Given the description of an element on the screen output the (x, y) to click on. 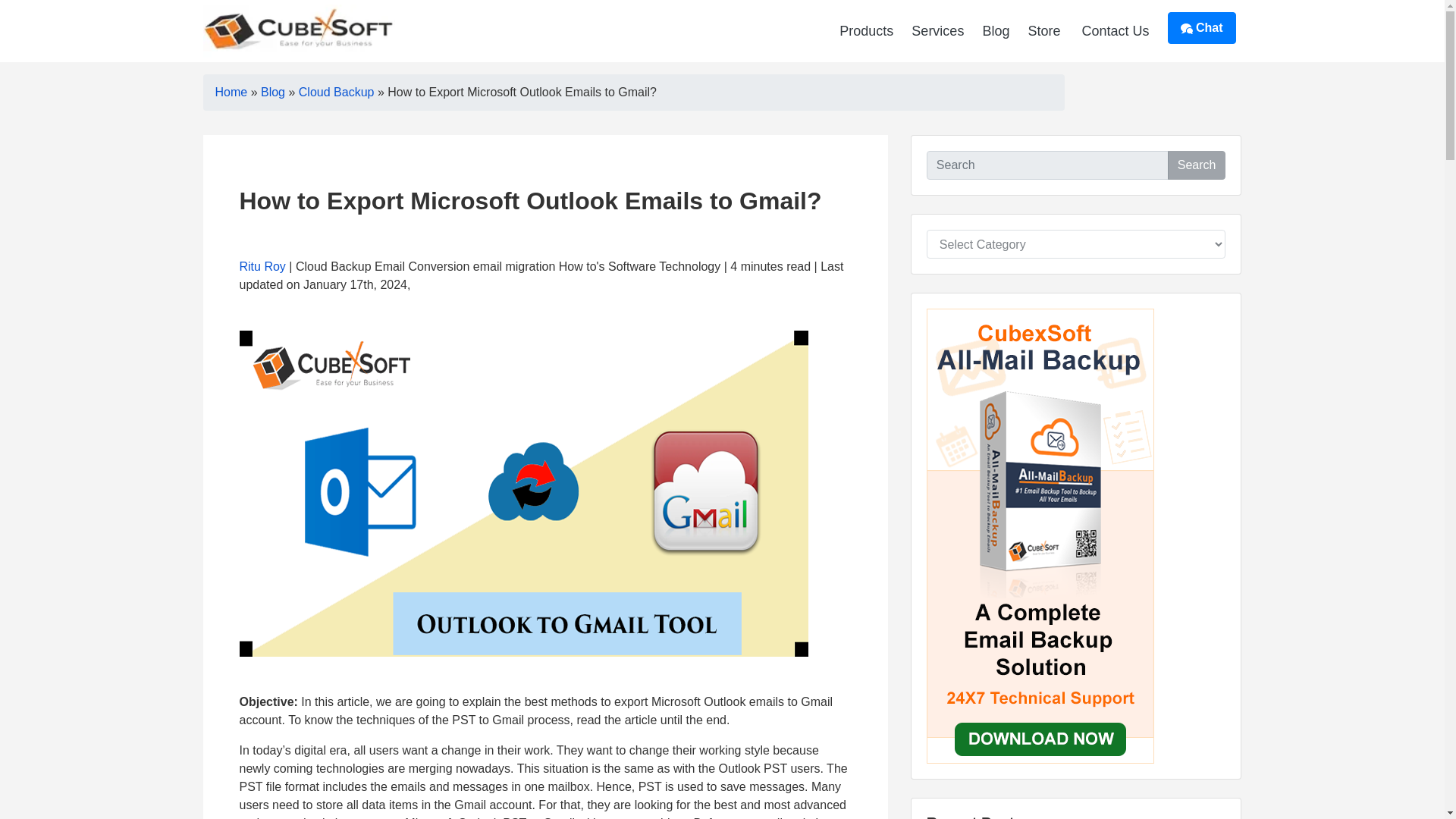
Products (865, 30)
Blog (994, 30)
Chat Bubbles Chat (1201, 28)
Contact Us (1114, 30)
Home (231, 91)
Chat Bubbles (1185, 28)
Store (1043, 30)
Blog (272, 91)
Services (937, 30)
View posts by Ritu Roy (262, 266)
Cloud Backup (336, 91)
Ritu Roy (262, 266)
Search (1196, 164)
